Given the description of an element on the screen output the (x, y) to click on. 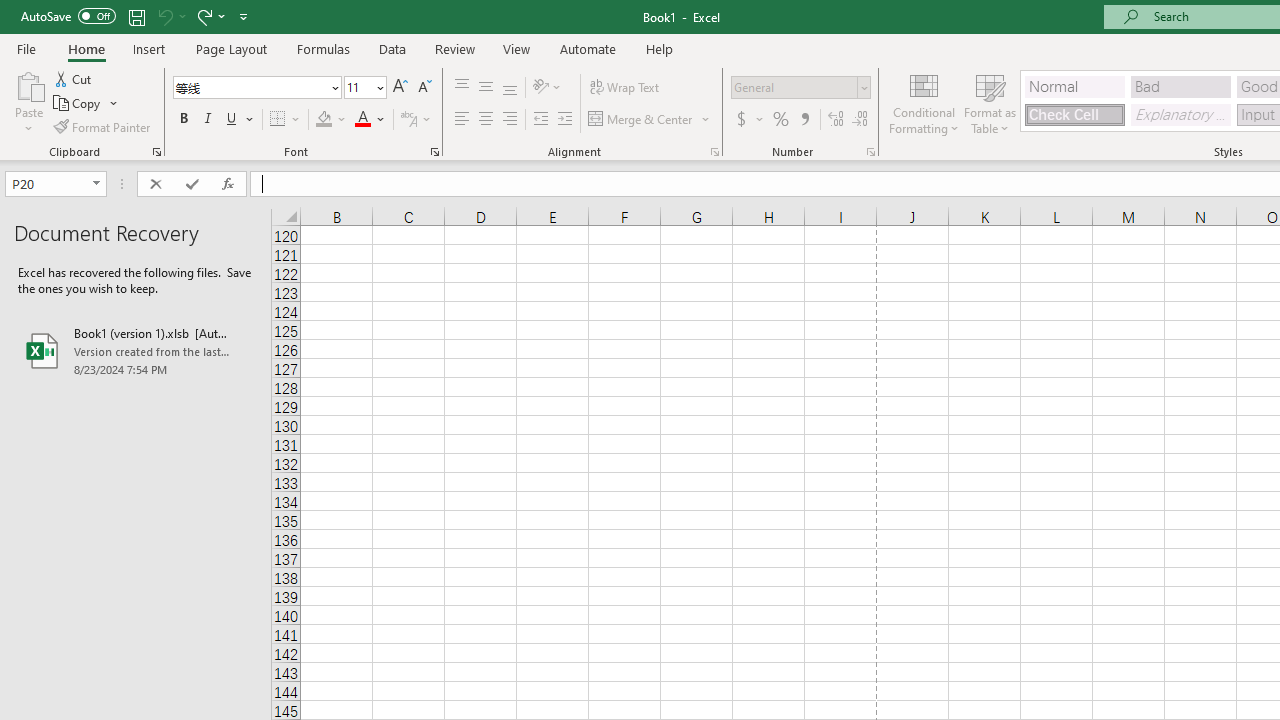
Fill Color RGB(255, 255, 0) (324, 119)
Bad (1180, 86)
Middle Align (485, 87)
Decrease Decimal (859, 119)
Font (256, 87)
Percent Style (781, 119)
Font Size (358, 87)
Accounting Number Format (749, 119)
Explanatory Text (1180, 114)
Book1 (version 1).xlsb  [AutoRecovered] (136, 350)
Font Size (365, 87)
Paste (28, 102)
Format as Table (990, 102)
